Given the description of an element on the screen output the (x, y) to click on. 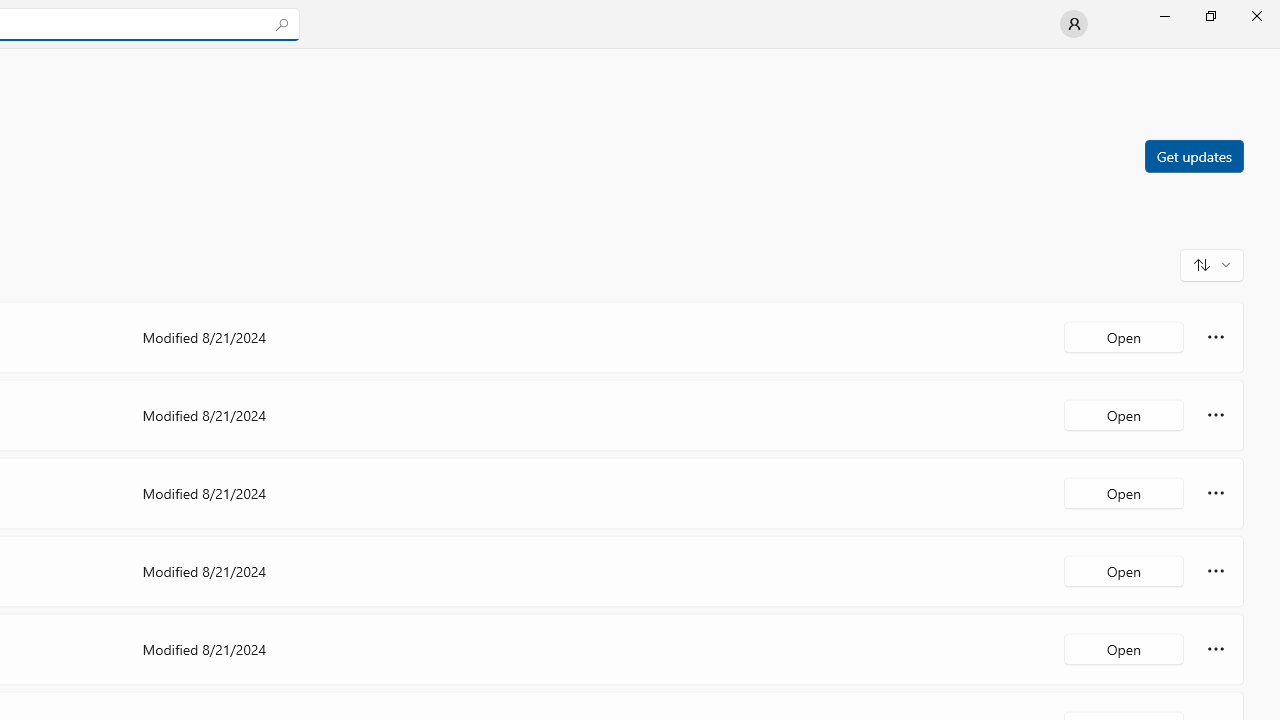
Open (1123, 648)
Restore Microsoft Store (1210, 15)
More options (1215, 648)
Close Microsoft Store (1256, 15)
Minimize Microsoft Store (1164, 15)
User profile (1073, 24)
Sort and filter (1212, 263)
Get updates (1193, 155)
